Given the description of an element on the screen output the (x, y) to click on. 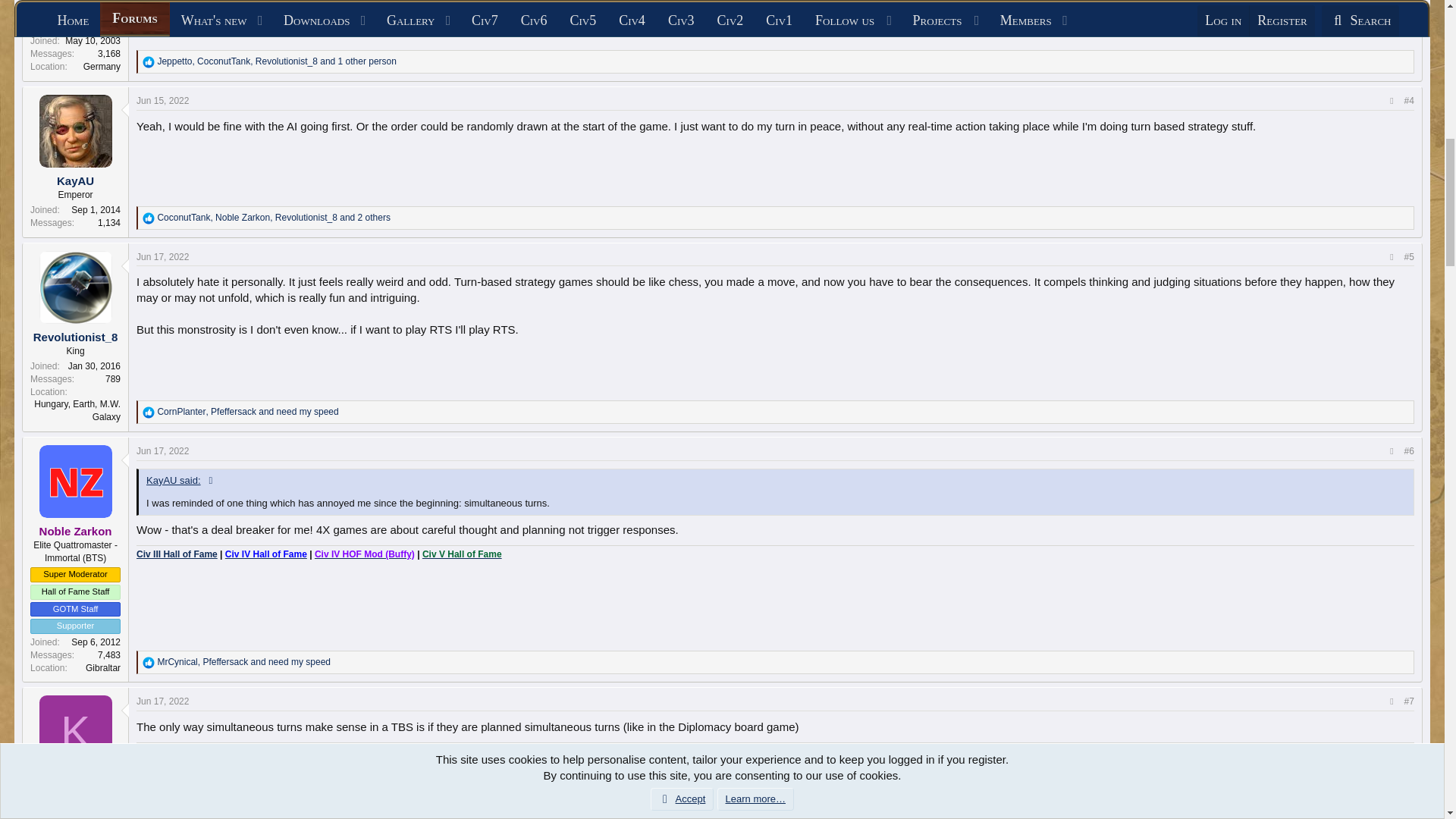
Like (148, 218)
Like (148, 412)
Like (148, 662)
Like (148, 61)
Jun 17, 2022 at 3:57 PM (162, 450)
Jun 15, 2022 at 4:00 AM (162, 100)
Jun 17, 2022 at 5:38 PM (162, 701)
Jun 17, 2022 at 2:19 PM (162, 256)
